Given the description of an element on the screen output the (x, y) to click on. 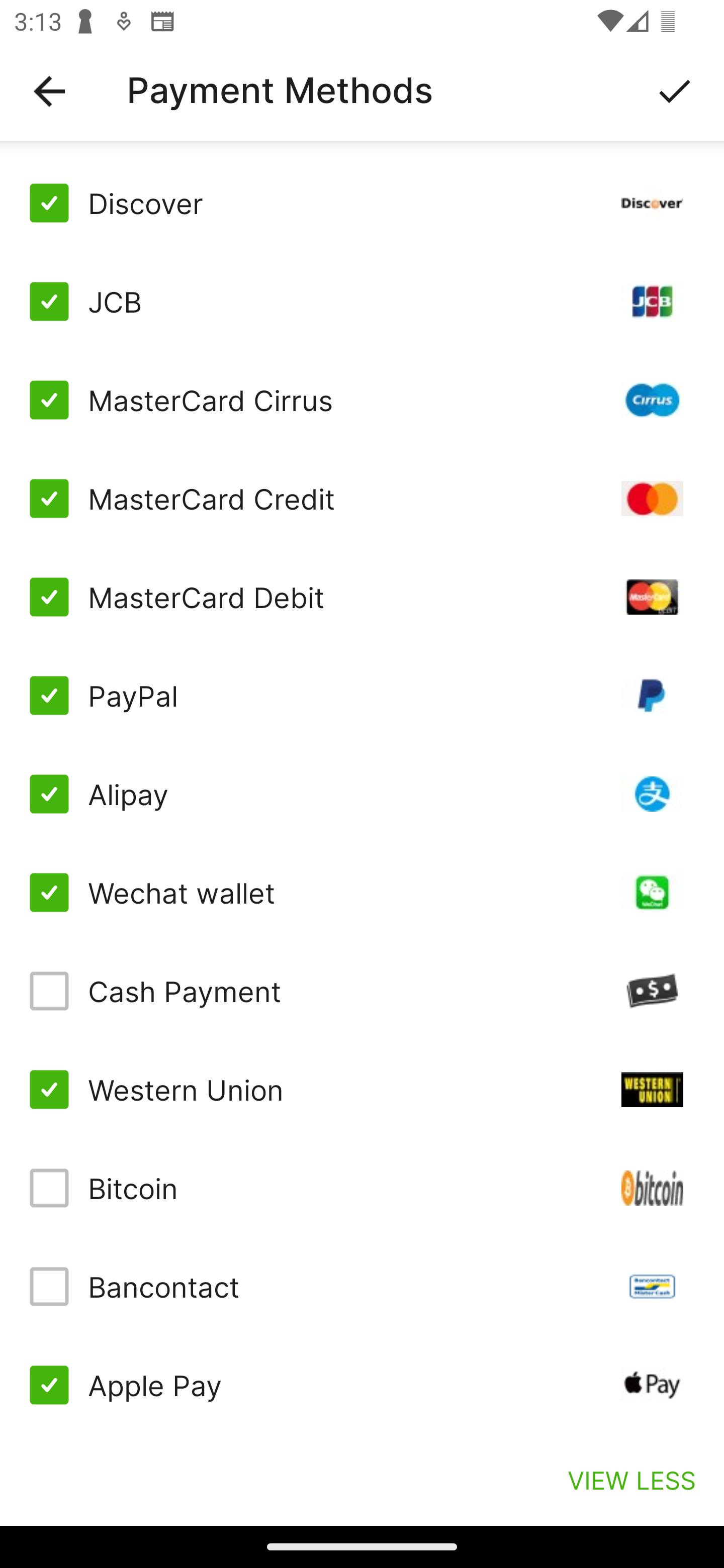
Discover (362, 202)
JCB (362, 301)
MasterCard Cirrus (362, 400)
MasterCard Credit (362, 498)
MasterCard Debit (362, 596)
PayPal (362, 695)
Alipay (362, 793)
Wechat wallet (362, 892)
Cash Payment (362, 990)
Western Union (362, 1088)
Bitcoin (362, 1187)
Bancontact (362, 1286)
Apple Pay (362, 1384)
VIEW LESS (631, 1479)
